Given the description of an element on the screen output the (x, y) to click on. 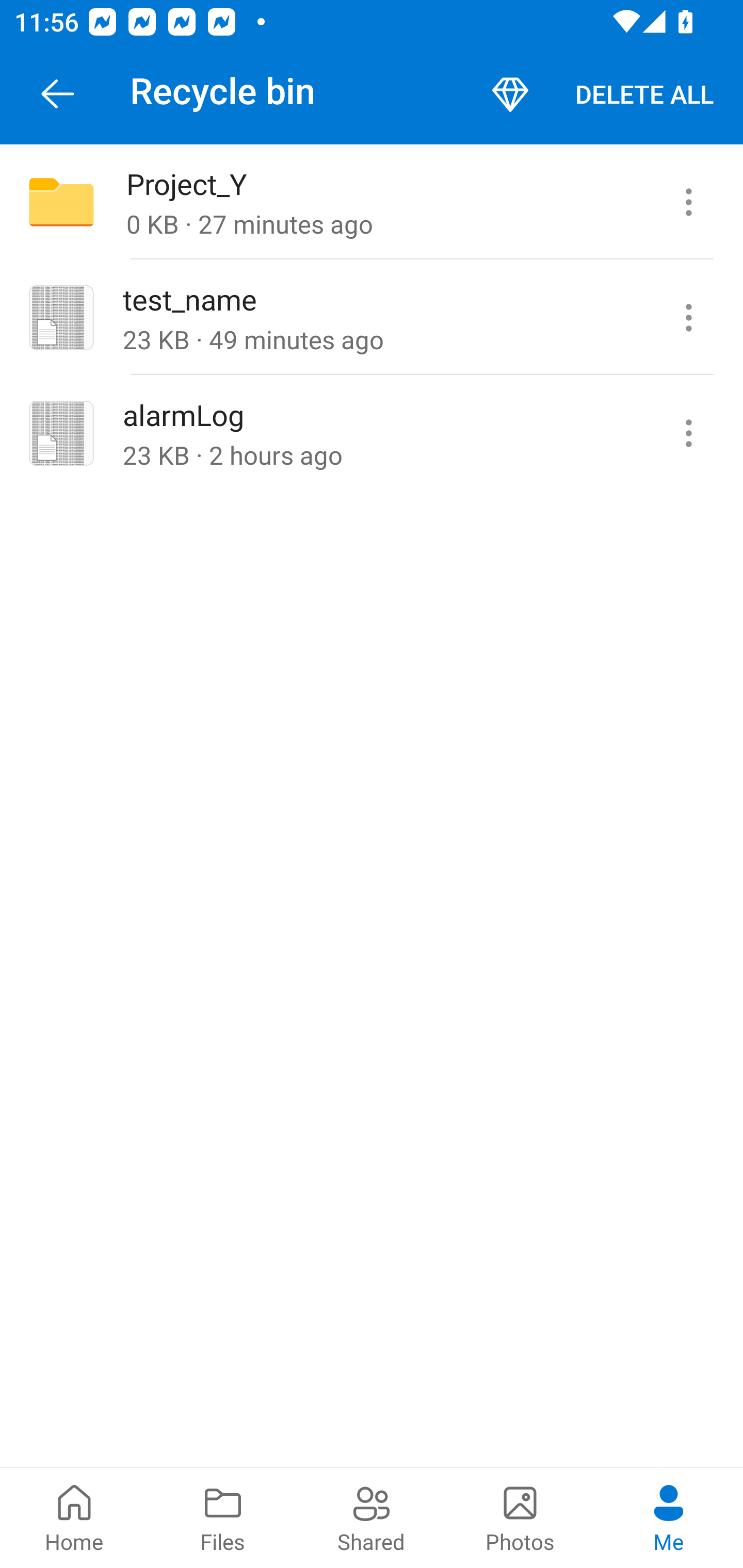
Navigate Up (57, 93)
Premium button (509, 93)
DELETE ALL Delete all button (644, 93)
Project_Y commands (688, 202)
test_name commands (688, 317)
alarmLog commands (688, 432)
Home pivot Home (74, 1517)
Files pivot Files (222, 1517)
Shared pivot Shared (371, 1517)
Photos pivot Photos (519, 1517)
